Given the description of an element on the screen output the (x, y) to click on. 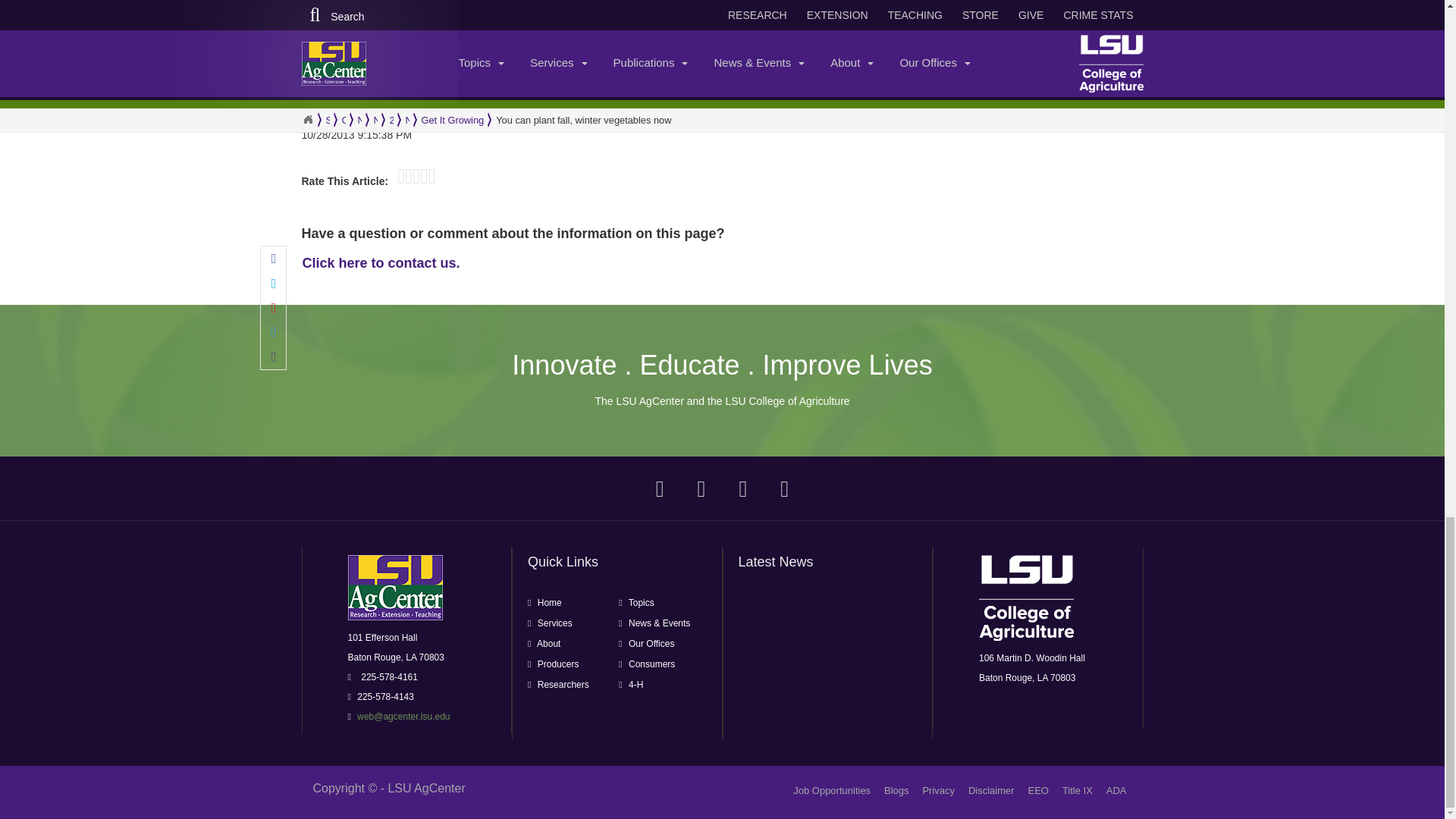
Privacyp (938, 790)
Careers (831, 790)
Blogs (895, 790)
Title IX (1077, 790)
EEO (1037, 790)
ADA Web Content Accessibility (1116, 790)
Disclaimer (991, 790)
